Given the description of an element on the screen output the (x, y) to click on. 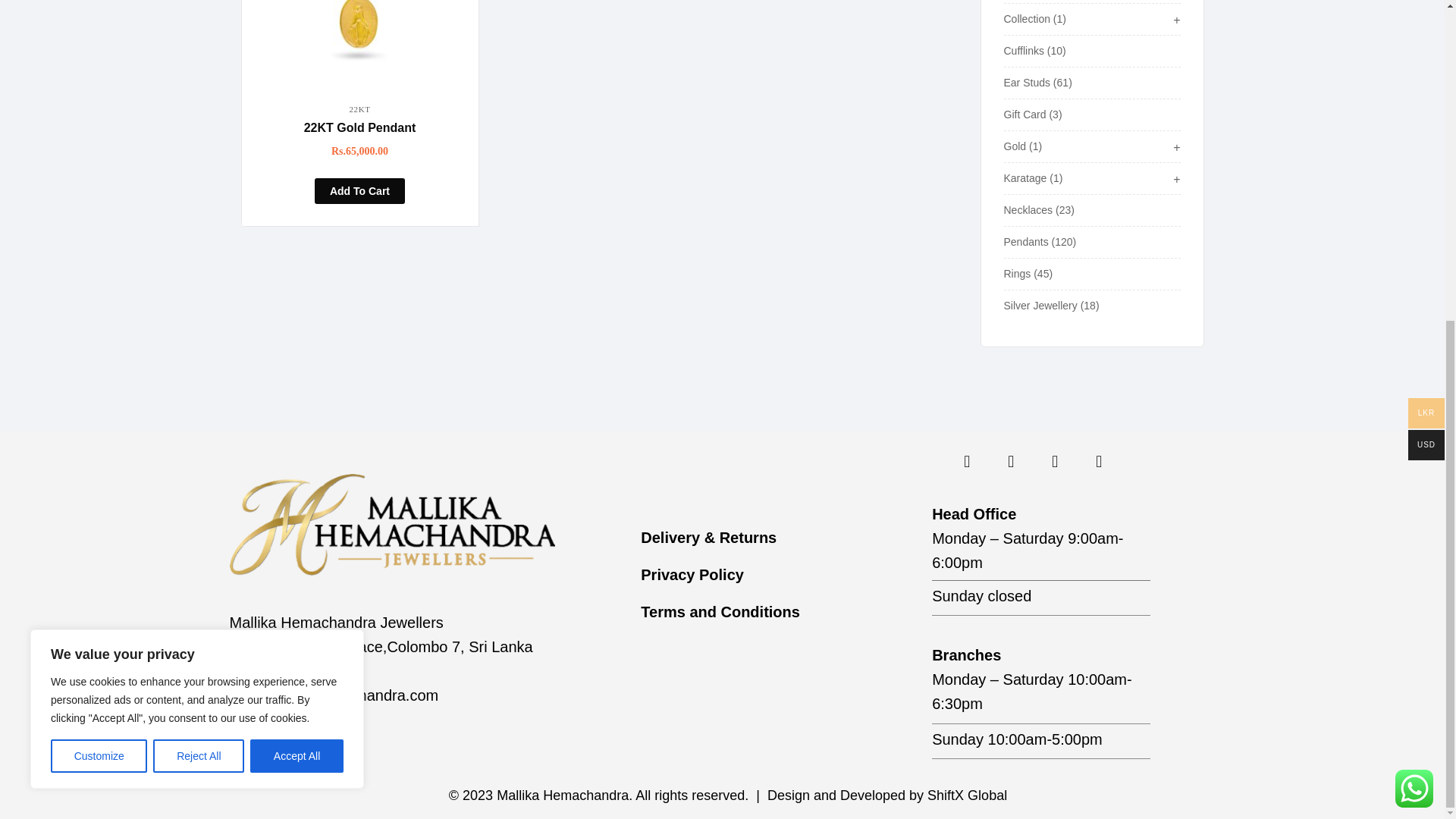
Reject All (198, 235)
Accept All (296, 235)
22KT Gold Pendant (359, 43)
Customize (98, 235)
